Given the description of an element on the screen output the (x, y) to click on. 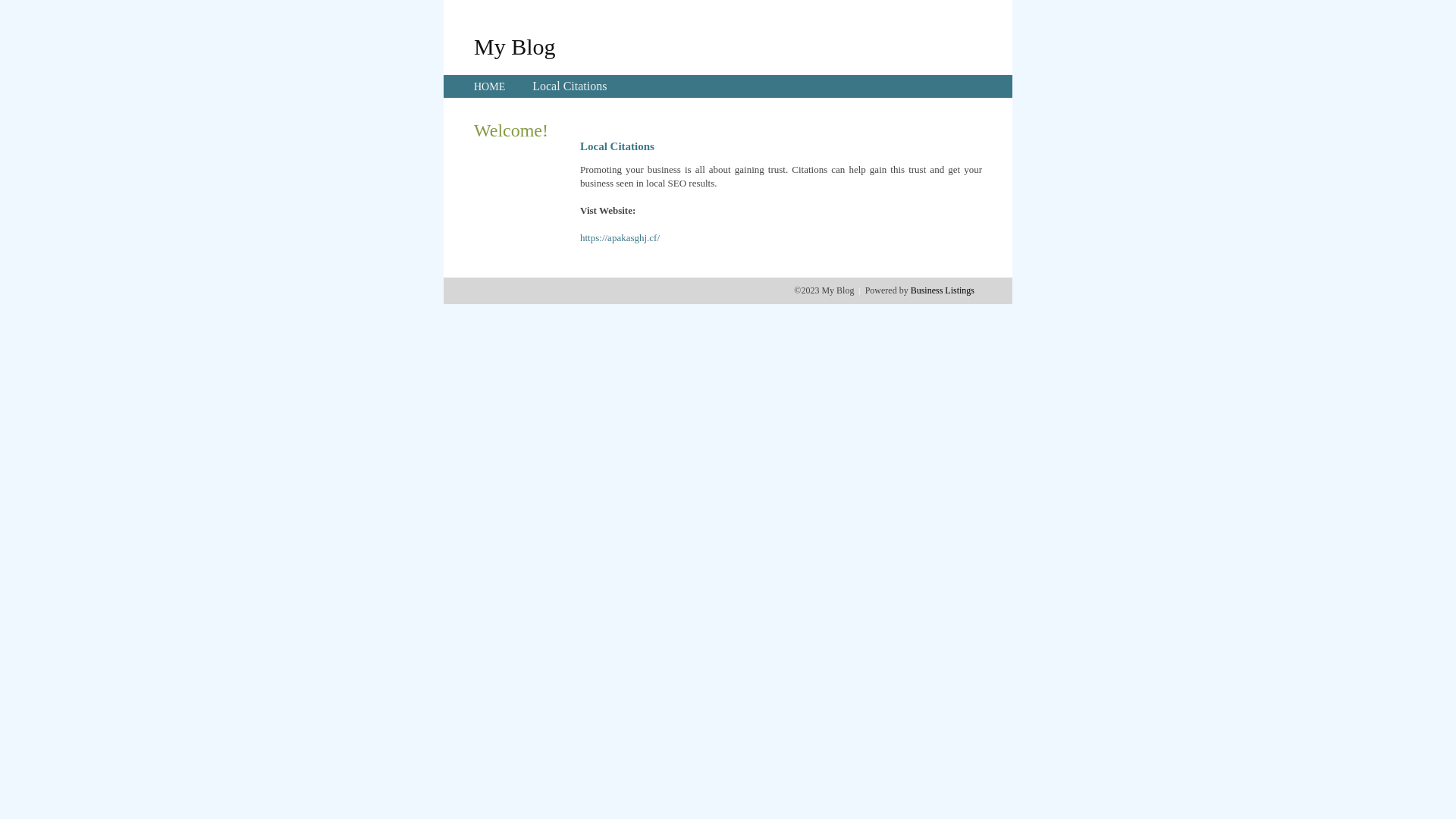
https://apakasghj.cf/ Element type: text (619, 237)
Business Listings Element type: text (942, 290)
HOME Element type: text (489, 86)
Local Citations Element type: text (569, 85)
My Blog Element type: text (514, 46)
